Given the description of an element on the screen output the (x, y) to click on. 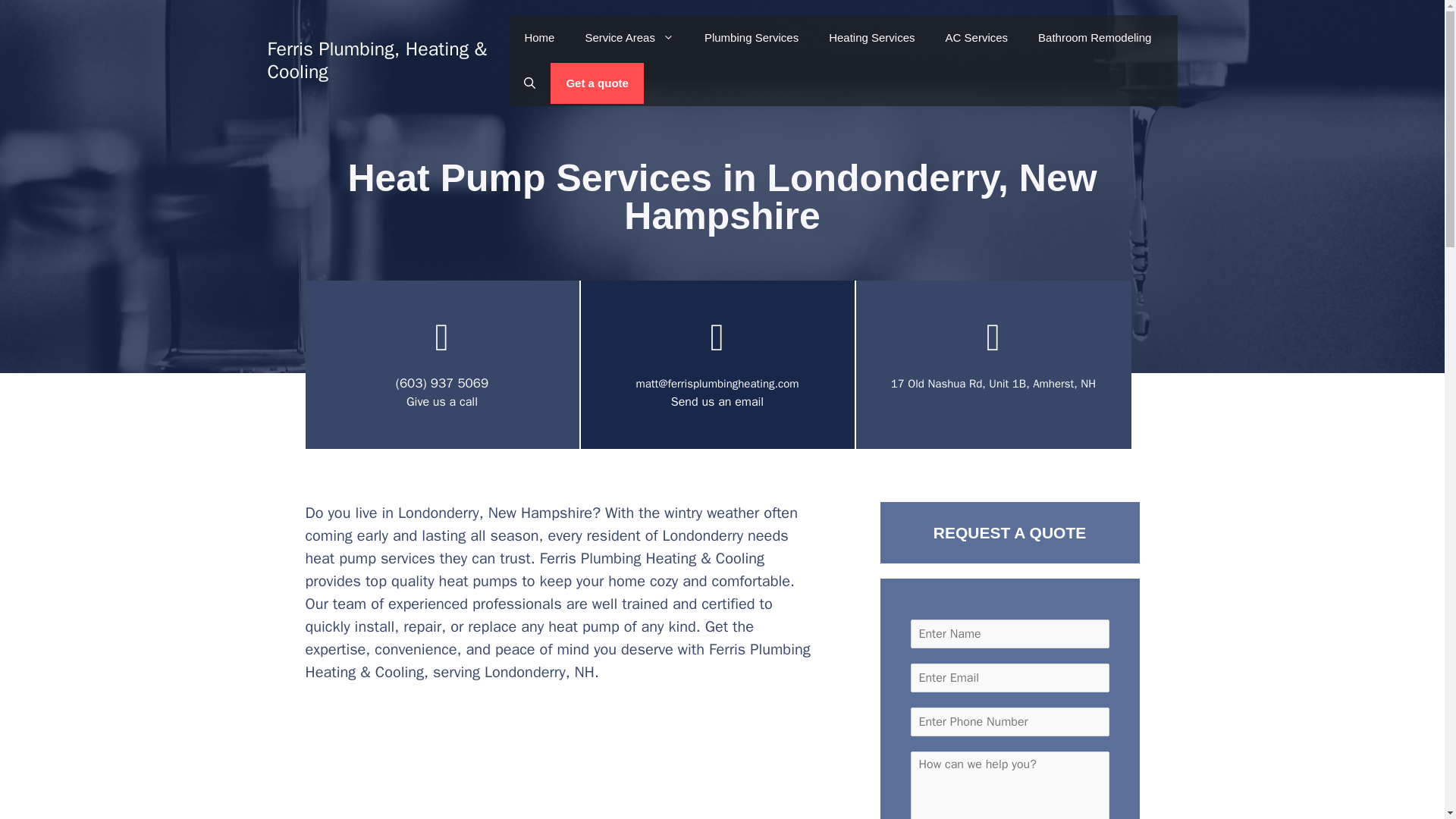
Plumbing Services (750, 37)
Get a quote (596, 83)
Heating Services (871, 37)
AC Services (976, 37)
Bathroom Remodeling (1094, 37)
Service Areas (628, 37)
Home (538, 37)
